Given the description of an element on the screen output the (x, y) to click on. 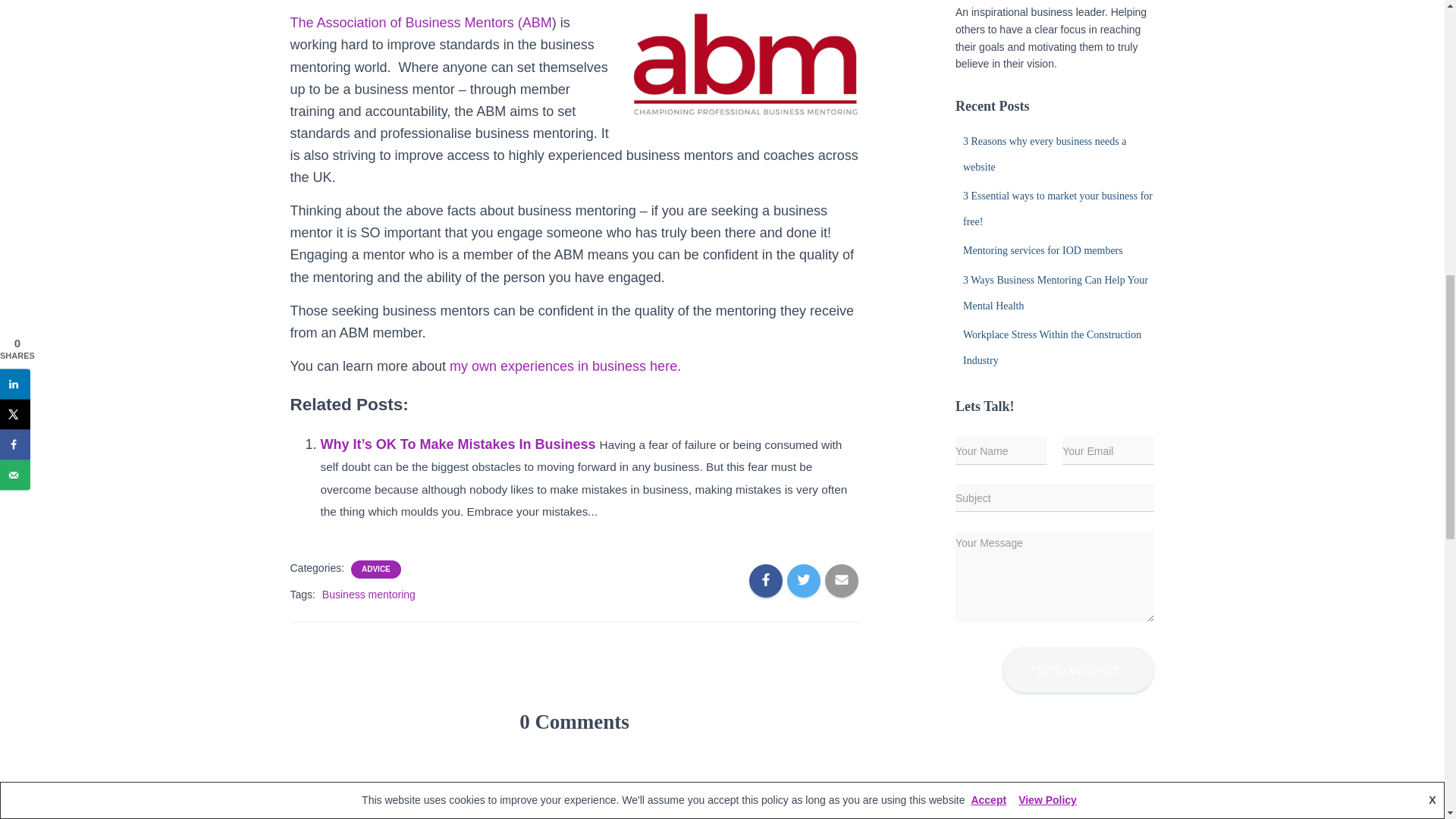
Workplace Stress Within the Construction Industry (1051, 347)
SEND MESSAGE (1078, 670)
ADVICE (375, 569)
3 Essential ways to market your business for free! (1057, 208)
3 Ways Business Mentoring Can Help Your Mental Health (1055, 293)
my own experiences in business here. (565, 365)
Business mentoring (367, 594)
Mentoring services for IOD members (1042, 250)
3 Reasons why every business needs a website (1043, 153)
